Given the description of an element on the screen output the (x, y) to click on. 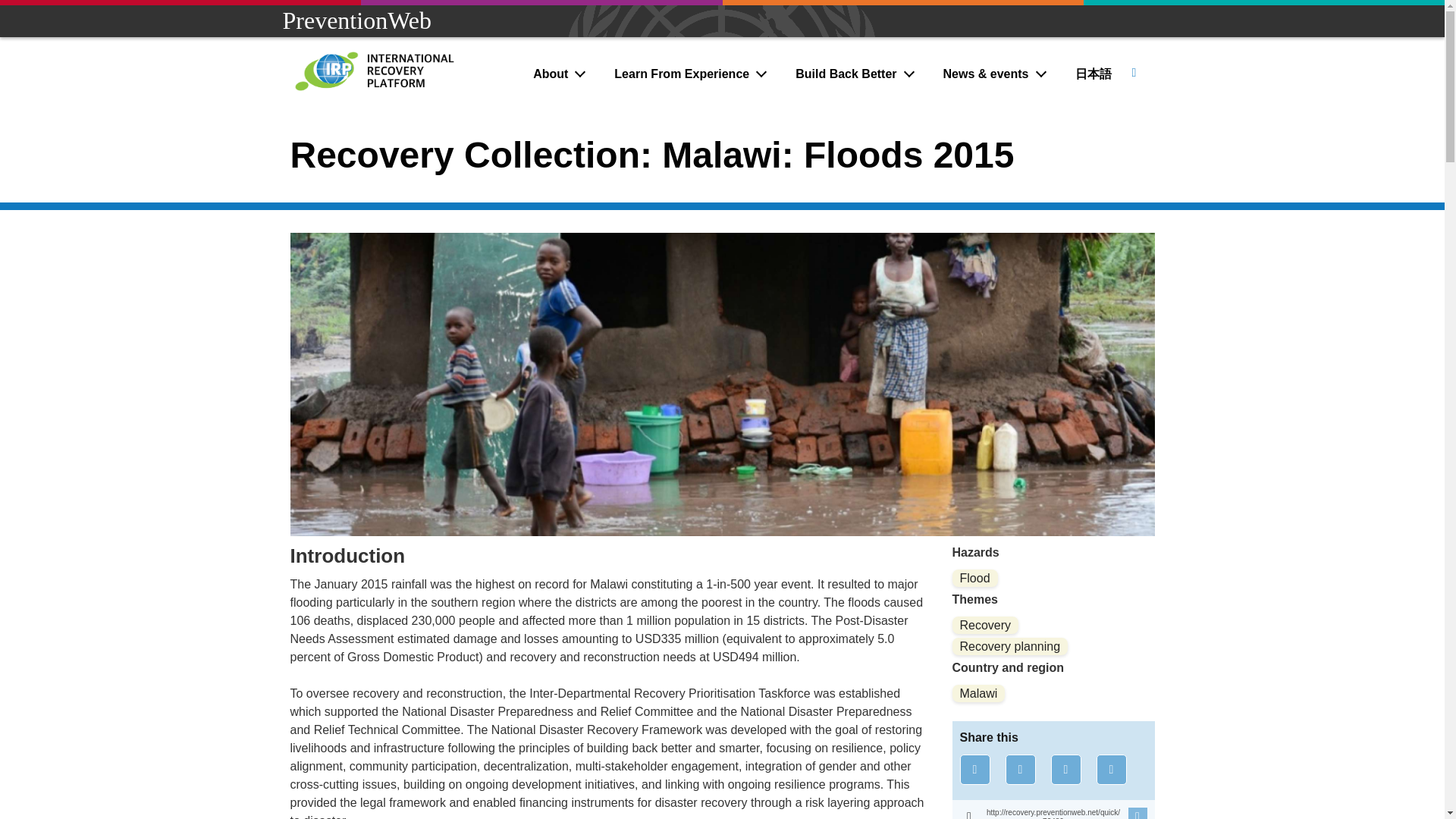
Copy to Clipboard (1053, 809)
Share on Twitter (1020, 769)
Share on Facebook (974, 769)
Share via Email (1111, 769)
Learn From Experience (692, 73)
About (560, 73)
Share on LinkedIn (1066, 769)
Build Back Better (856, 73)
